Given the description of an element on the screen output the (x, y) to click on. 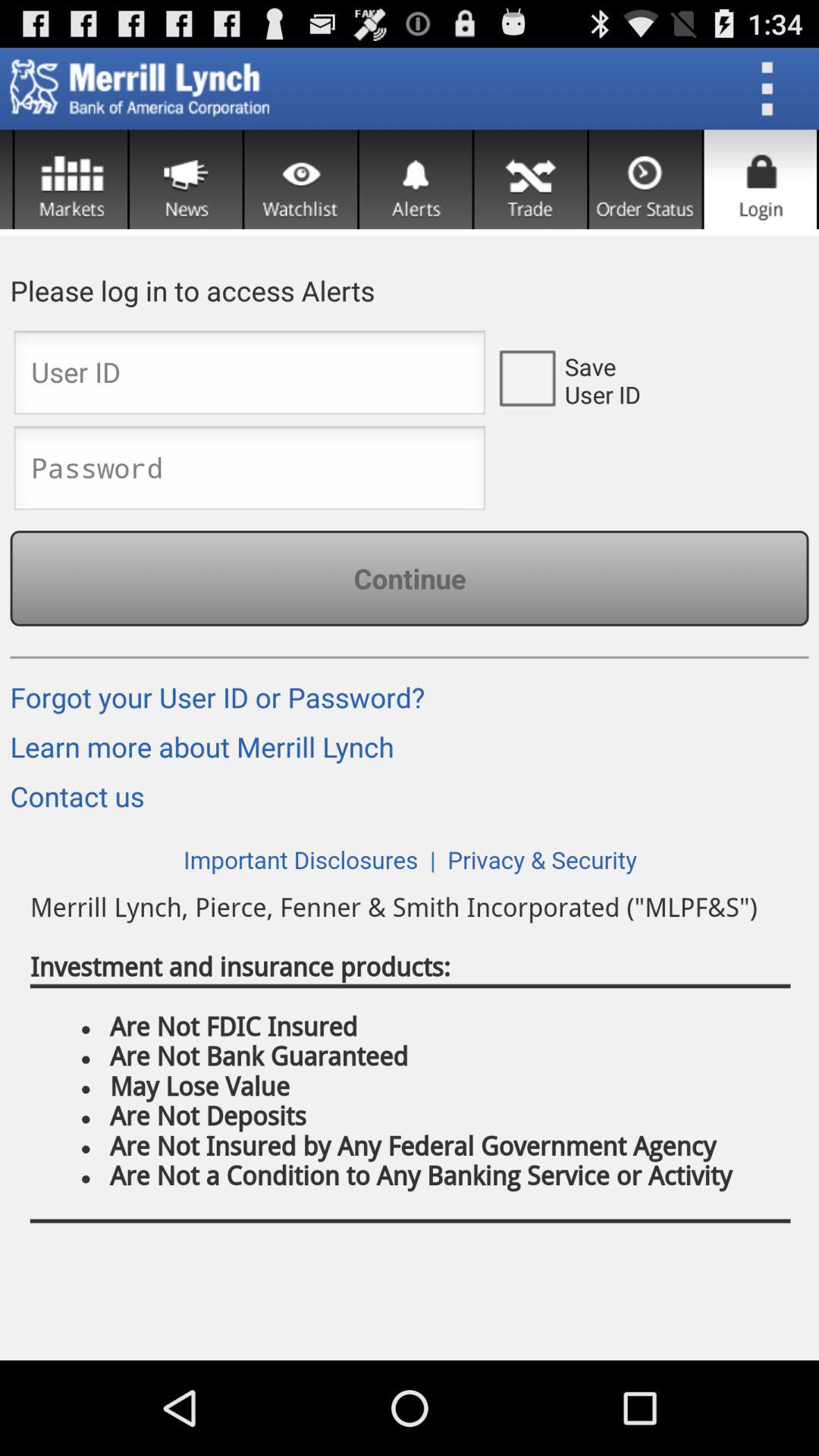
open settings menu (772, 88)
